Given the description of an element on the screen output the (x, y) to click on. 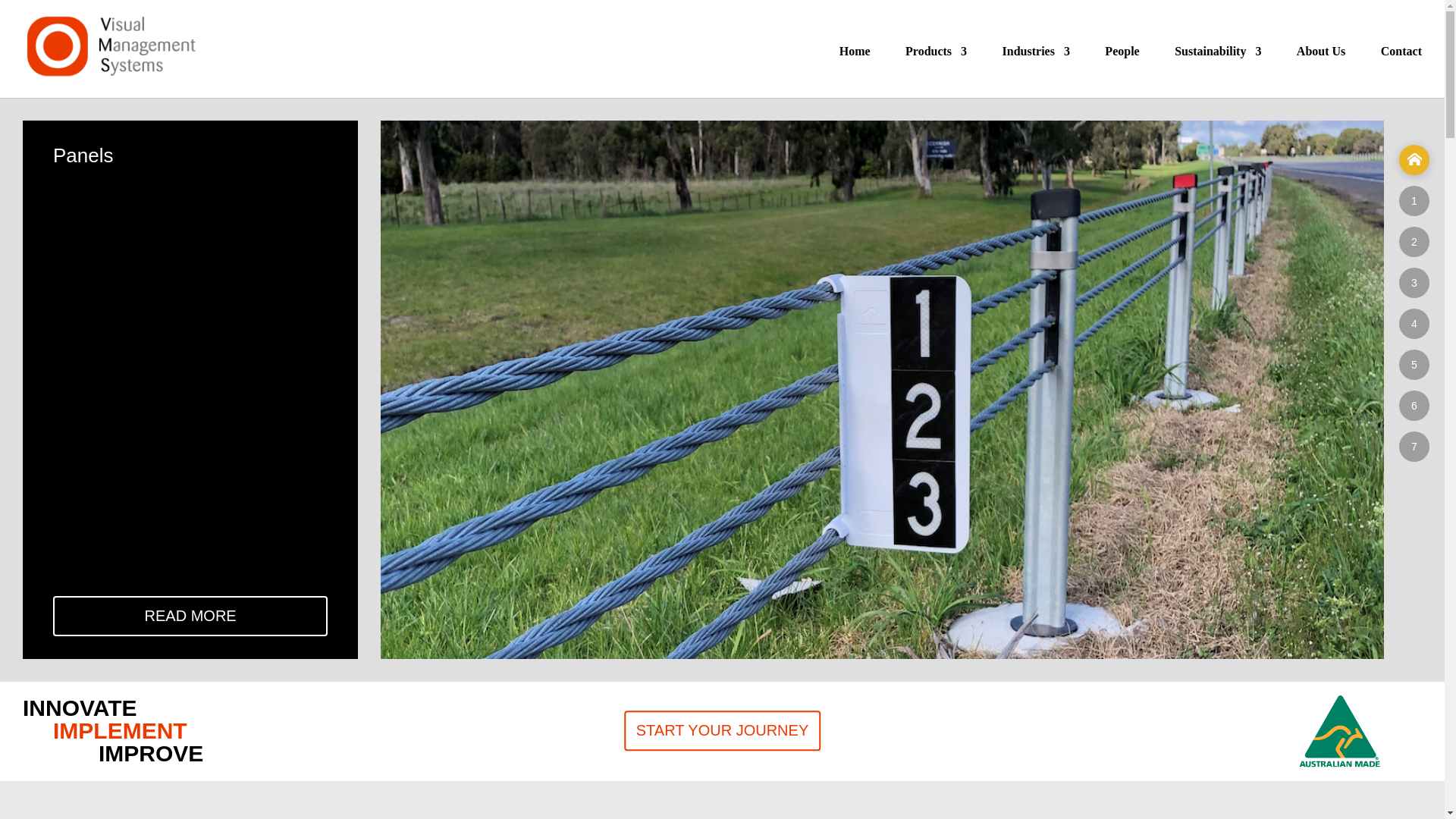
Products (935, 67)
Industries (1036, 67)
Sustainability (1217, 67)
